Given the description of an element on the screen output the (x, y) to click on. 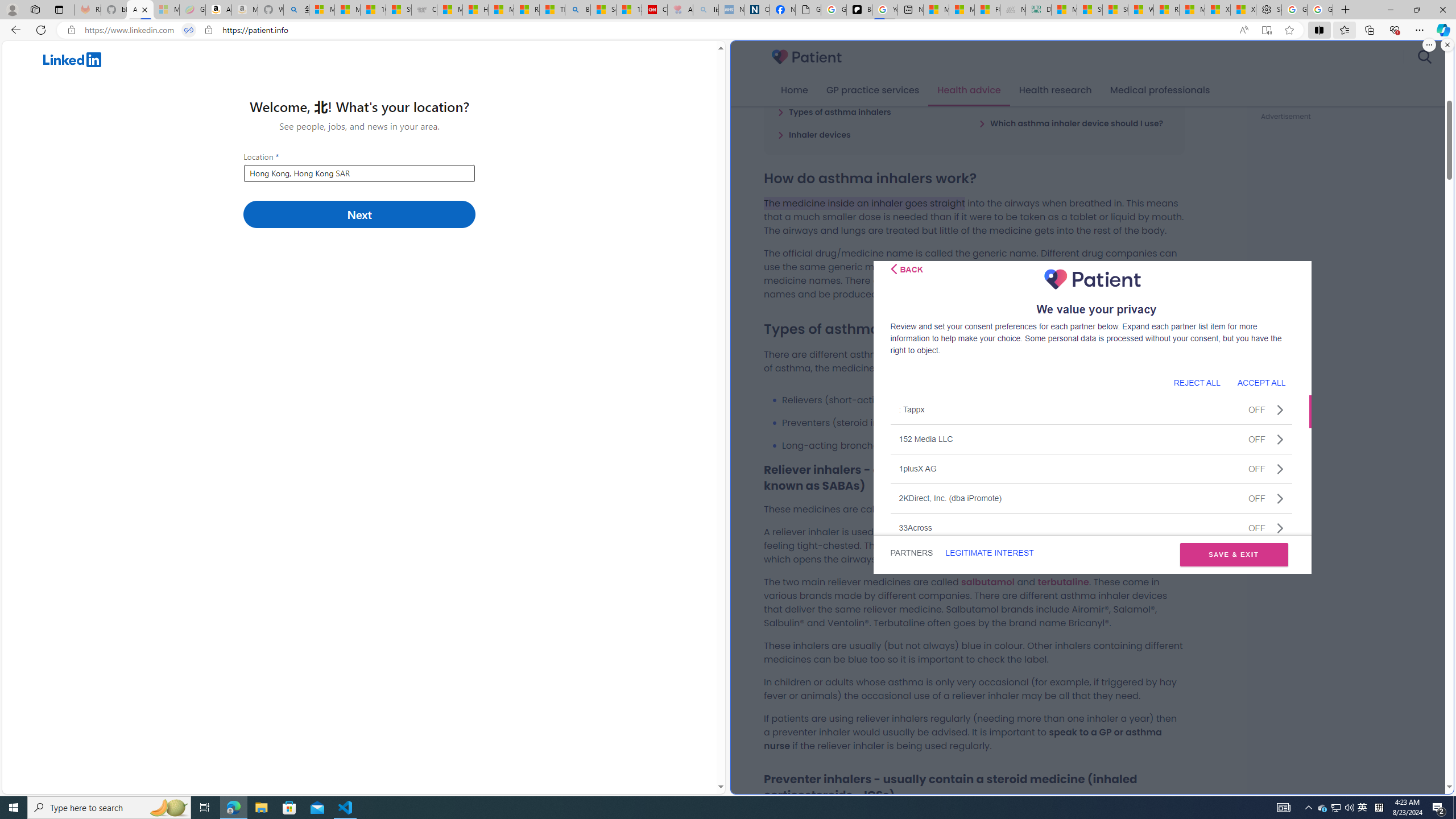
Health advice (969, 90)
terbutaline (1062, 581)
Bing (577, 9)
R******* | Trusted Community Engagement and Contributions (1165, 9)
Types of asthma inhalers (834, 111)
Class: css-i5klq5 (892, 268)
SAVE & EXIT (1233, 554)
12 Popular Science Lies that Must be Corrected (628, 9)
